Given the description of an element on the screen output the (x, y) to click on. 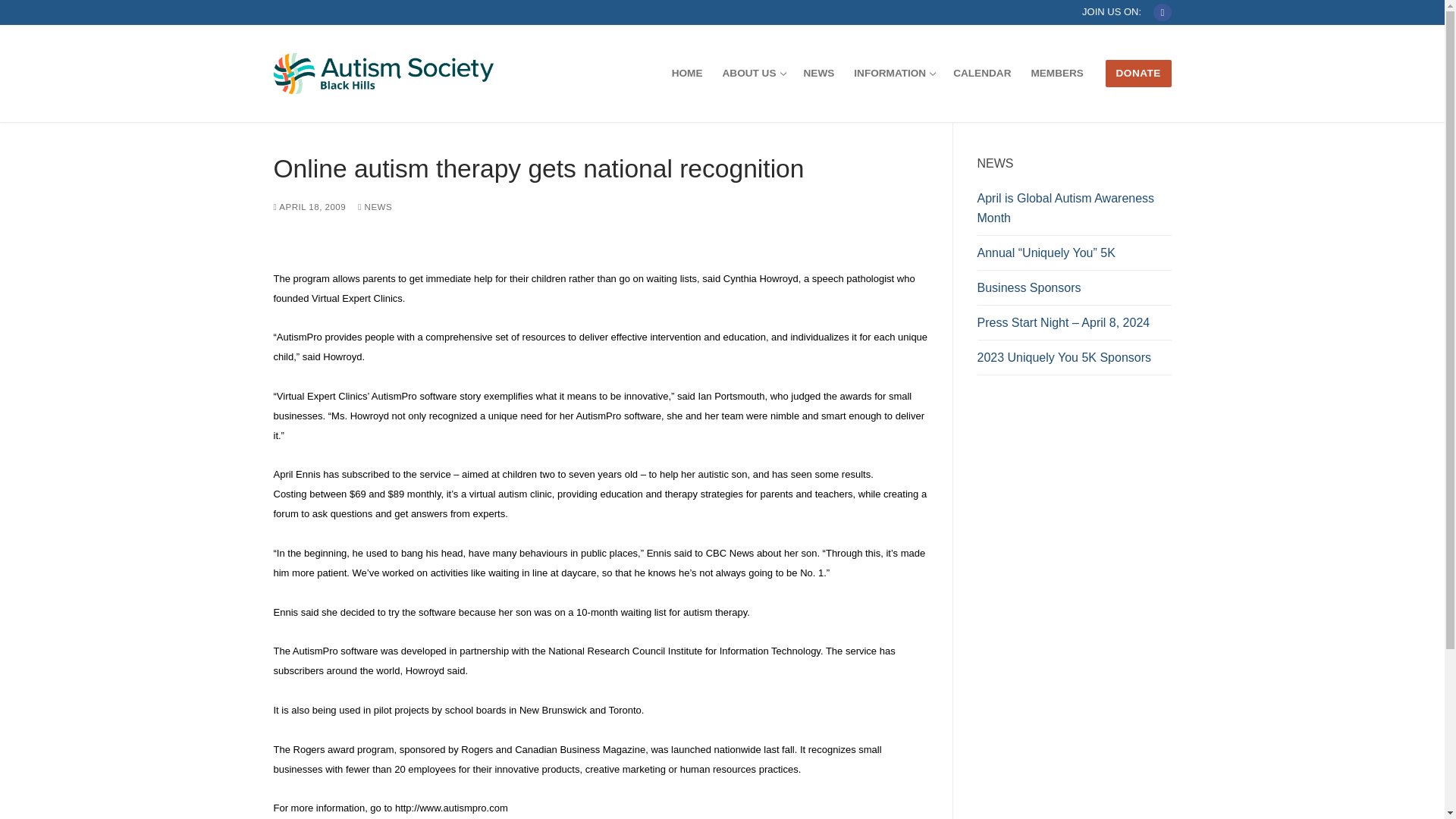
CALENDAR (981, 72)
APRIL 18, 2009 (309, 206)
NEWS (374, 206)
MEMBERS (1056, 72)
Business Sponsors (1073, 291)
2023 Uniquely You 5K Sponsors (1073, 361)
NEWS (818, 72)
DONATE (1138, 73)
HOME (687, 72)
April is Global Autism Awareness Month (1073, 212)
Facebook (893, 72)
